Given the description of an element on the screen output the (x, y) to click on. 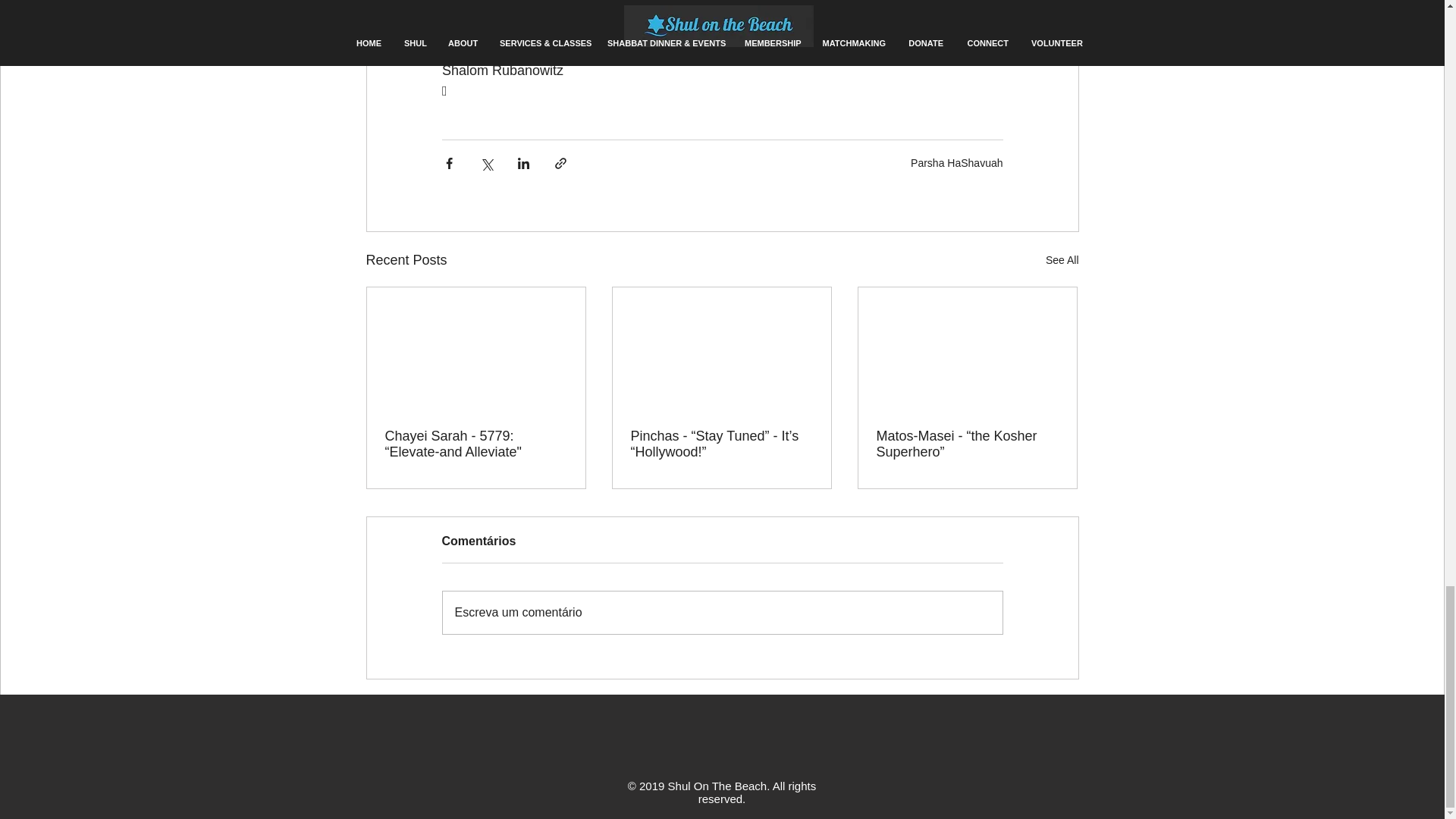
Parsha HaShavuah (957, 162)
See All (1061, 260)
